Given the description of an element on the screen output the (x, y) to click on. 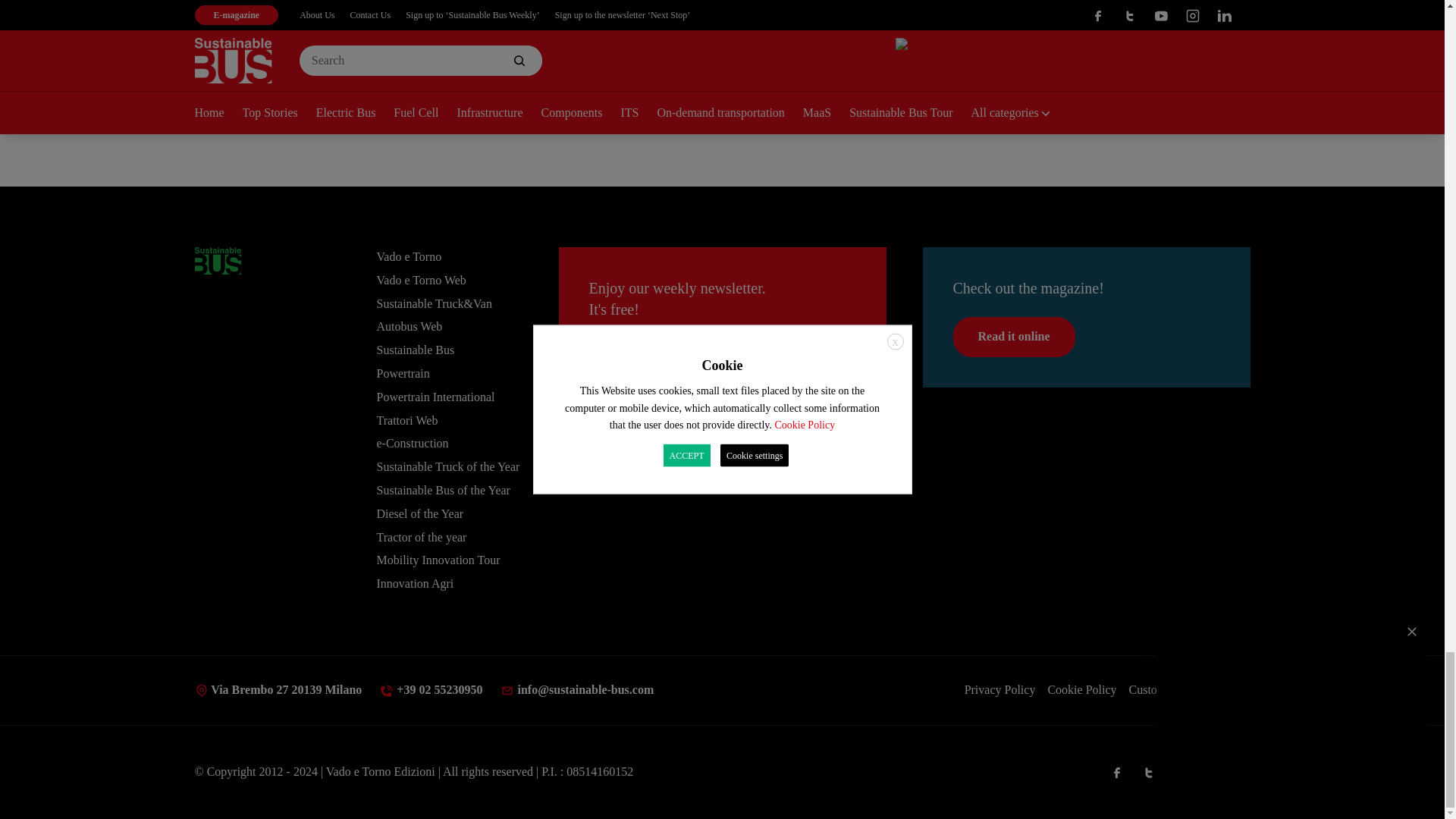
Sustainable Bus (216, 260)
